Given the description of an element on the screen output the (x, y) to click on. 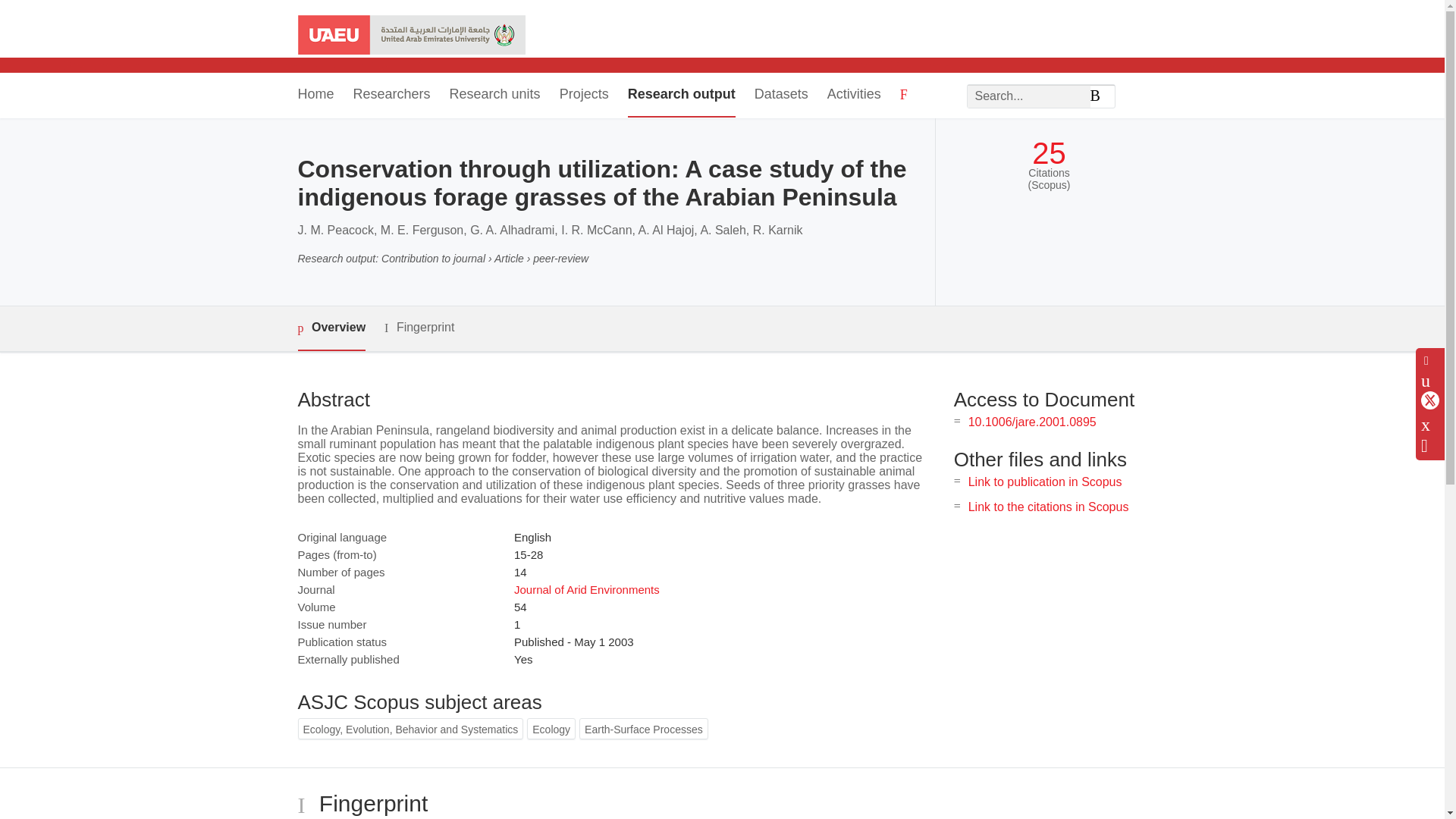
Projects (583, 94)
Journal of Arid Environments (586, 589)
Activities (853, 94)
Researchers (391, 94)
Overview (331, 328)
United Arab Emirates University Home (410, 36)
25 (1048, 153)
Link to the citations in Scopus (1048, 506)
Link to publication in Scopus (1045, 481)
Datasets (781, 94)
Research units (494, 94)
Fingerprint (419, 327)
Research output (681, 94)
